Given the description of an element on the screen output the (x, y) to click on. 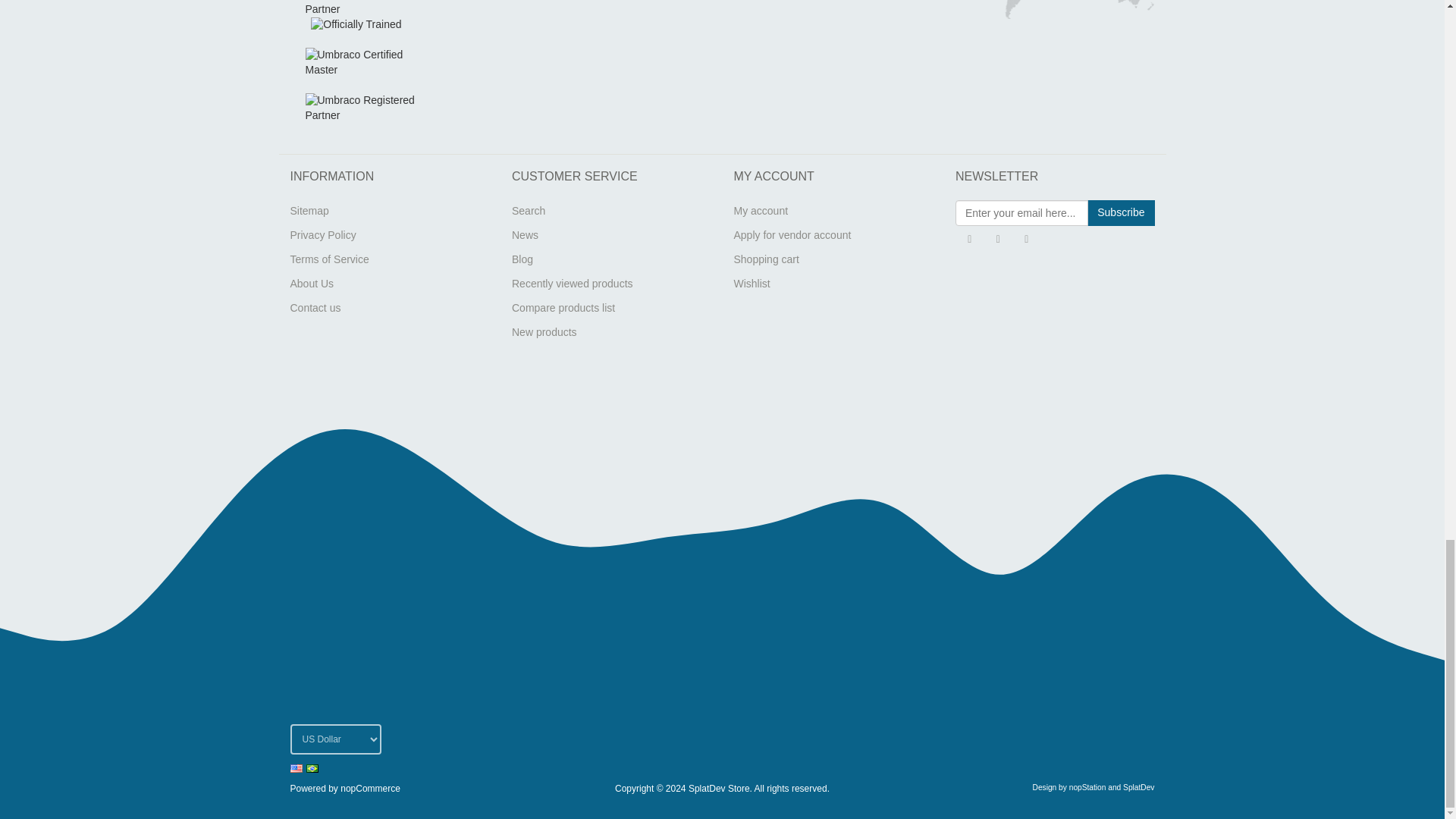
Gold Solutions Partner (359, 8)
Subscribe (1120, 212)
Officially Trained (356, 24)
